Given the description of an element on the screen output the (x, y) to click on. 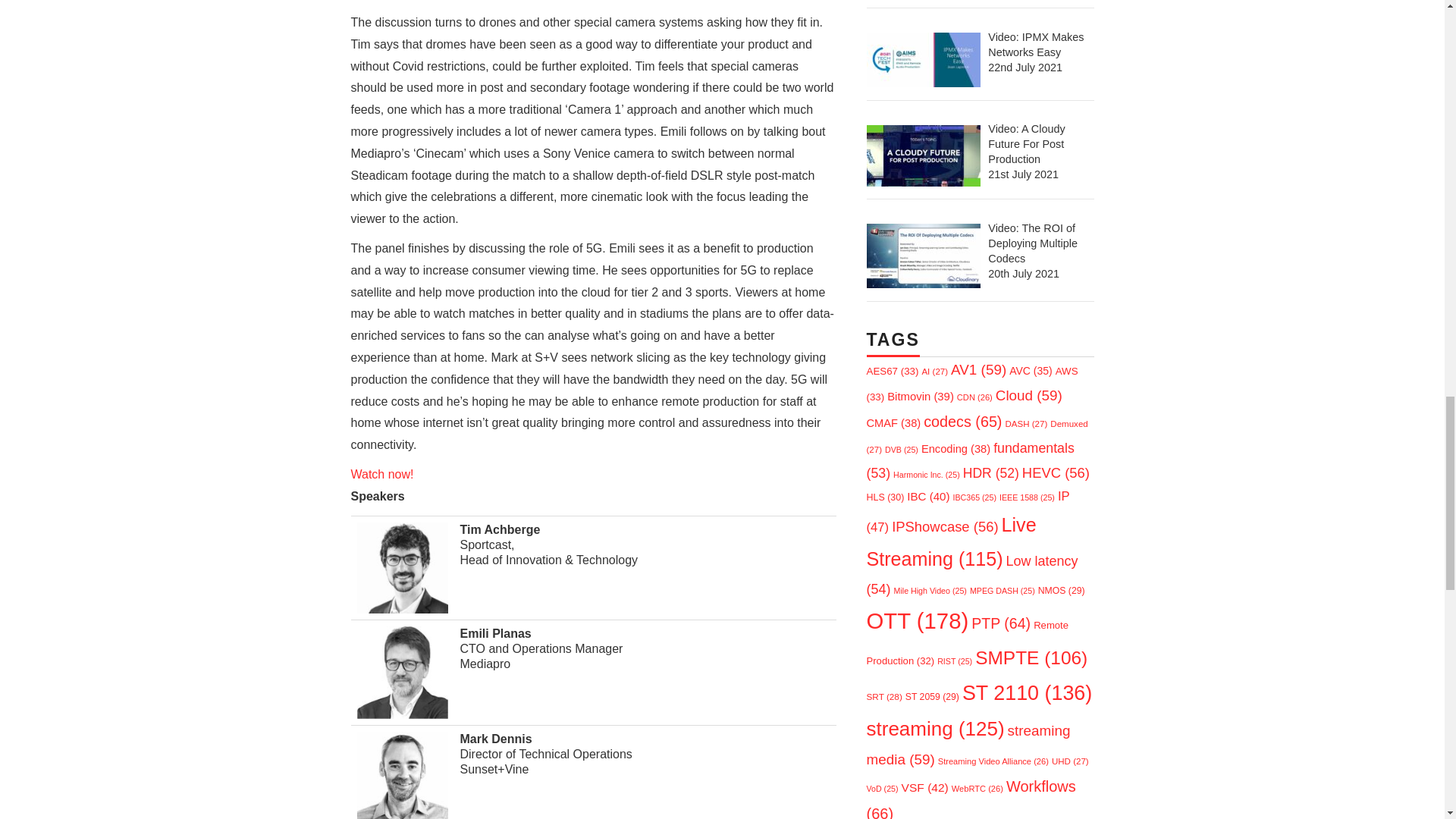
Watch now! (381, 473)
